Given the description of an element on the screen output the (x, y) to click on. 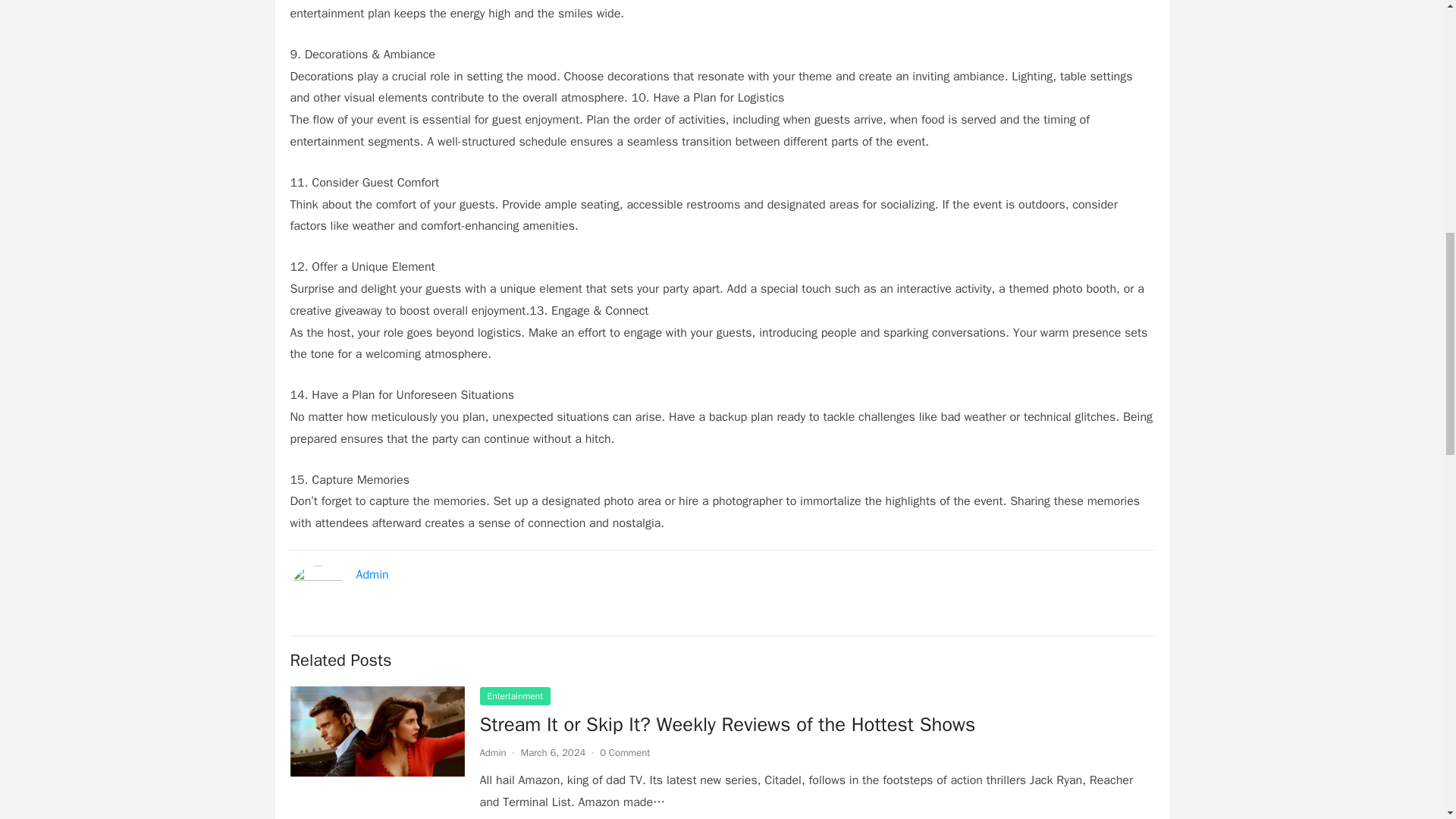
Admin (372, 574)
Stream It or Skip It? Weekly Reviews of the Hottest Shows (727, 724)
Entertainment (514, 696)
0 Comment (624, 752)
Admin (492, 752)
Posts by Admin (492, 752)
